Given the description of an element on the screen output the (x, y) to click on. 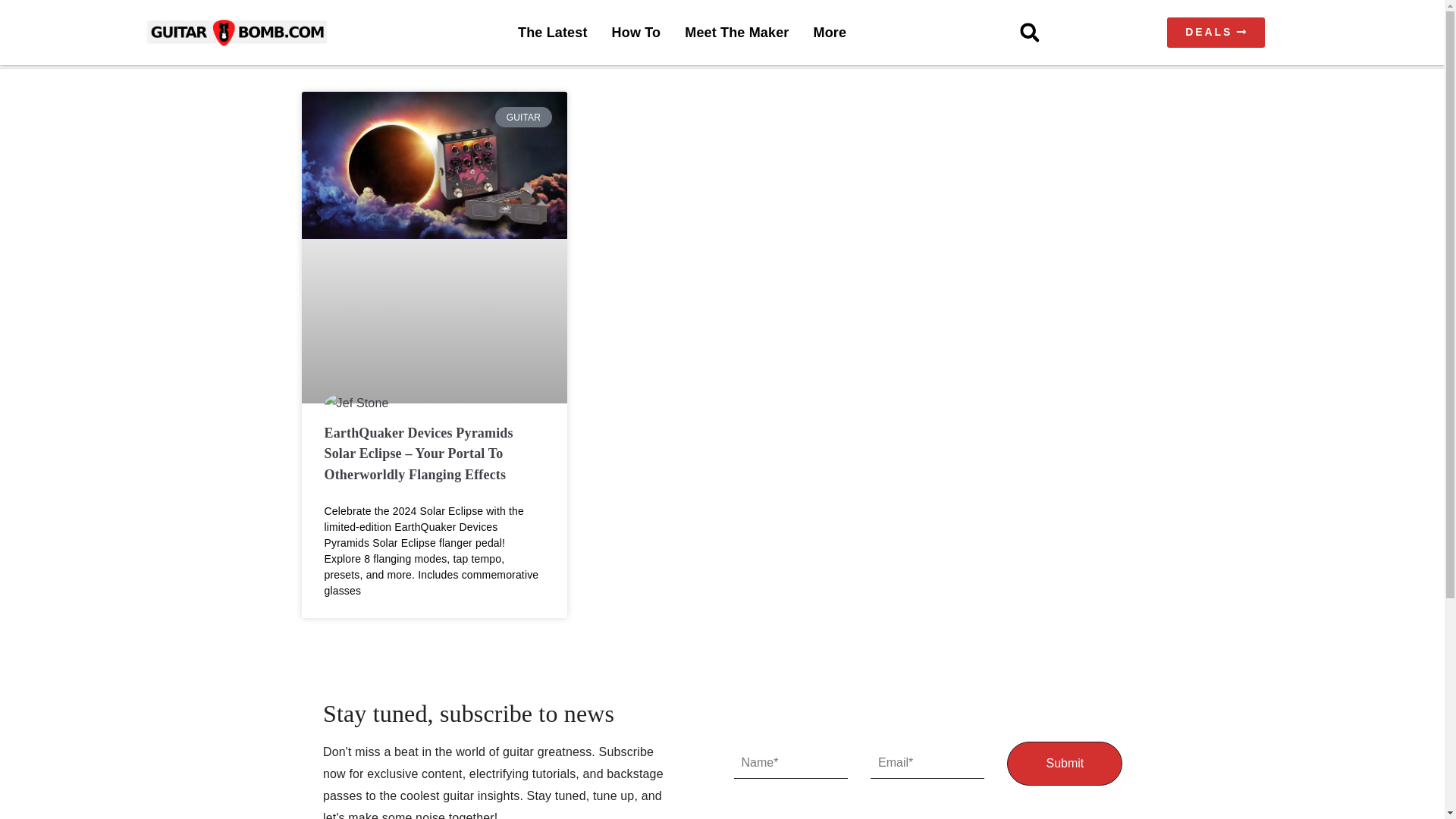
Meet The Maker (736, 32)
More (830, 32)
How To (636, 32)
Submit (1064, 763)
DEALS (1216, 32)
The Latest (553, 32)
